Given the description of an element on the screen output the (x, y) to click on. 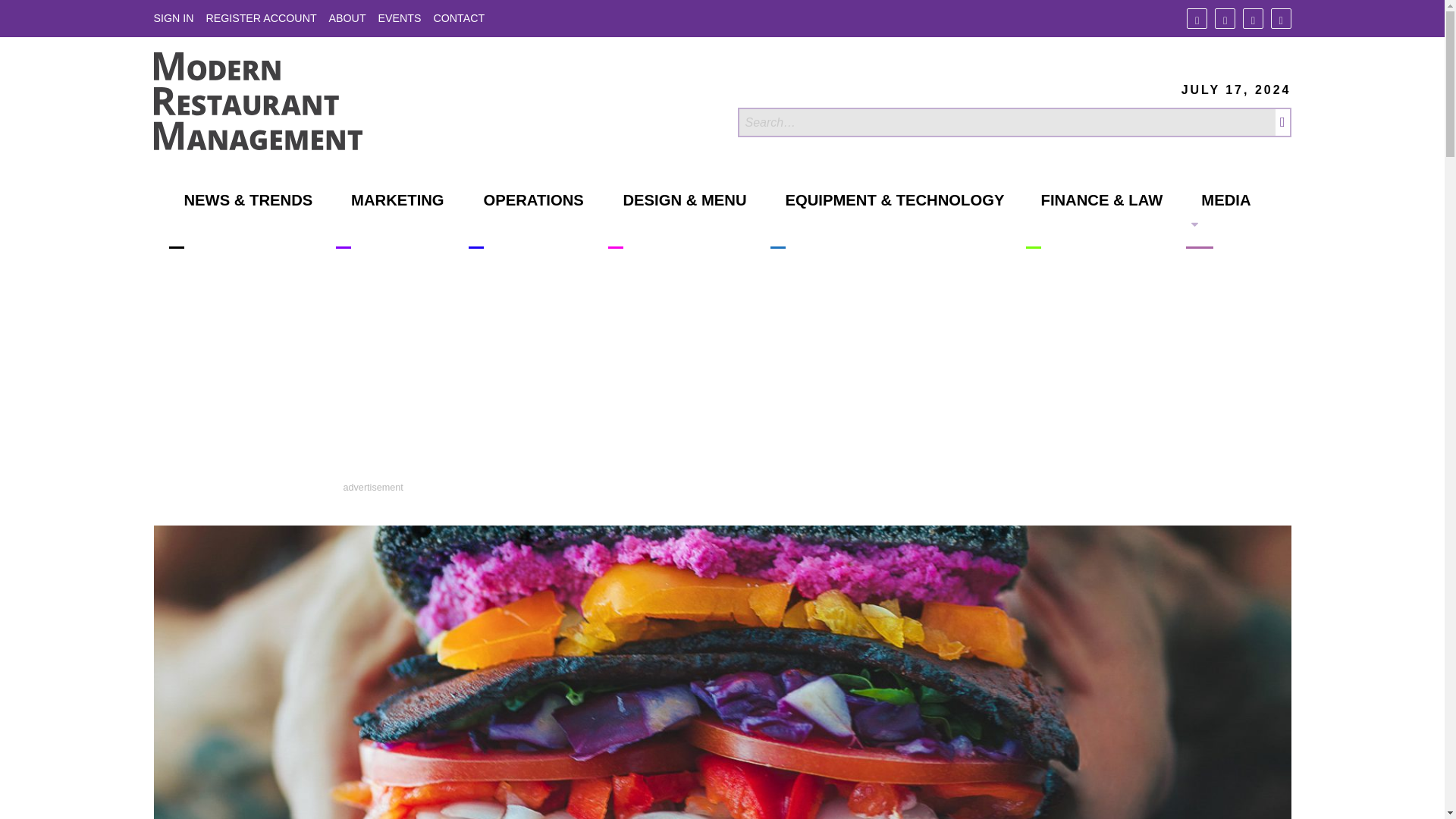
MEDIA (1218, 219)
OPERATIONS (525, 219)
REGISTER ACCOUNT (260, 18)
CONTACT (458, 18)
EVENTS (400, 18)
Linkedin (1253, 18)
Facebook (1196, 18)
Youtube (1281, 18)
Search (1005, 122)
MARKETING (390, 219)
Twitter (1224, 18)
ABOUT (347, 18)
submit (1283, 122)
SIGN IN (172, 18)
